Given the description of an element on the screen output the (x, y) to click on. 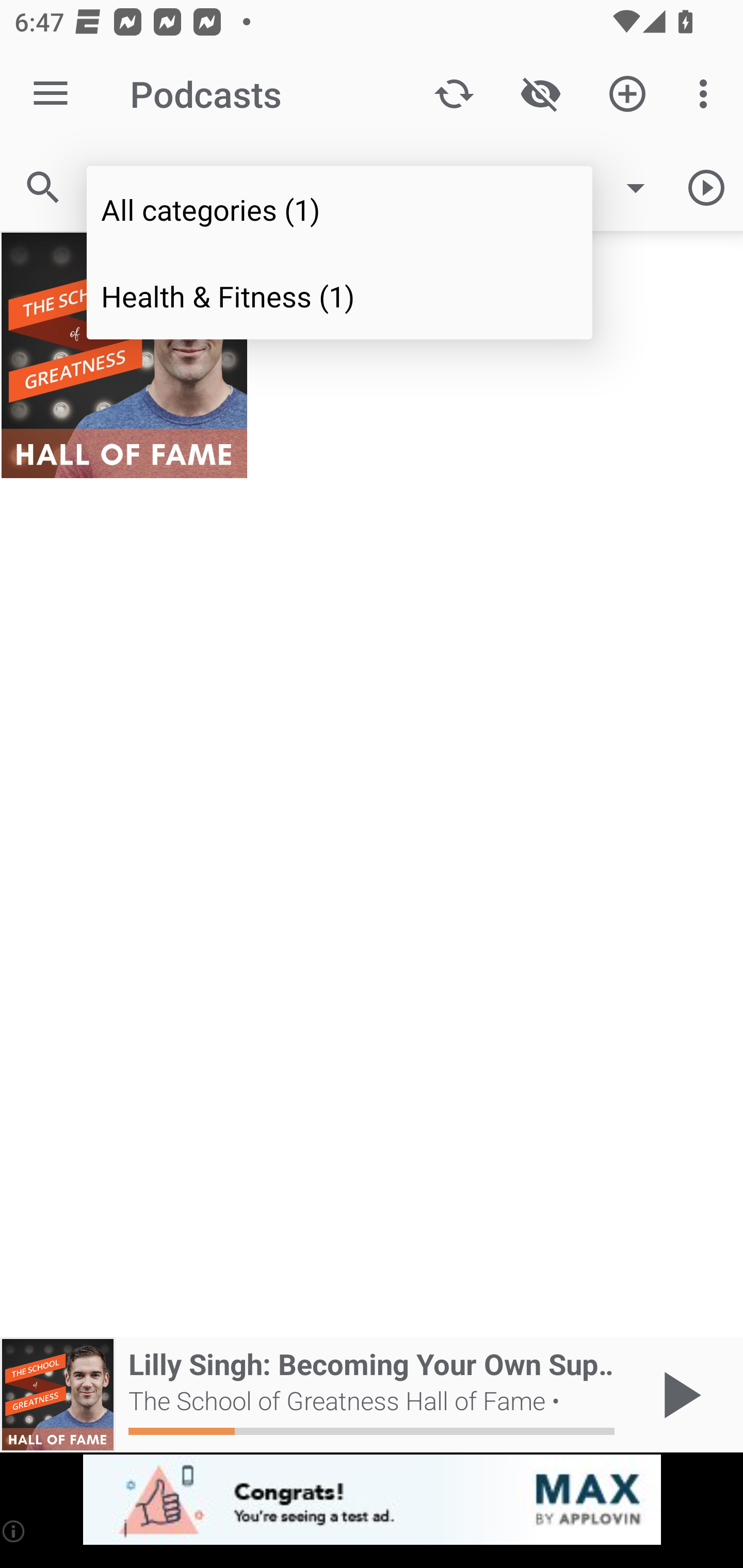
All categories (1) (339, 209)
Health & Fitness (1) (339, 295)
